Given the description of an element on the screen output the (x, y) to click on. 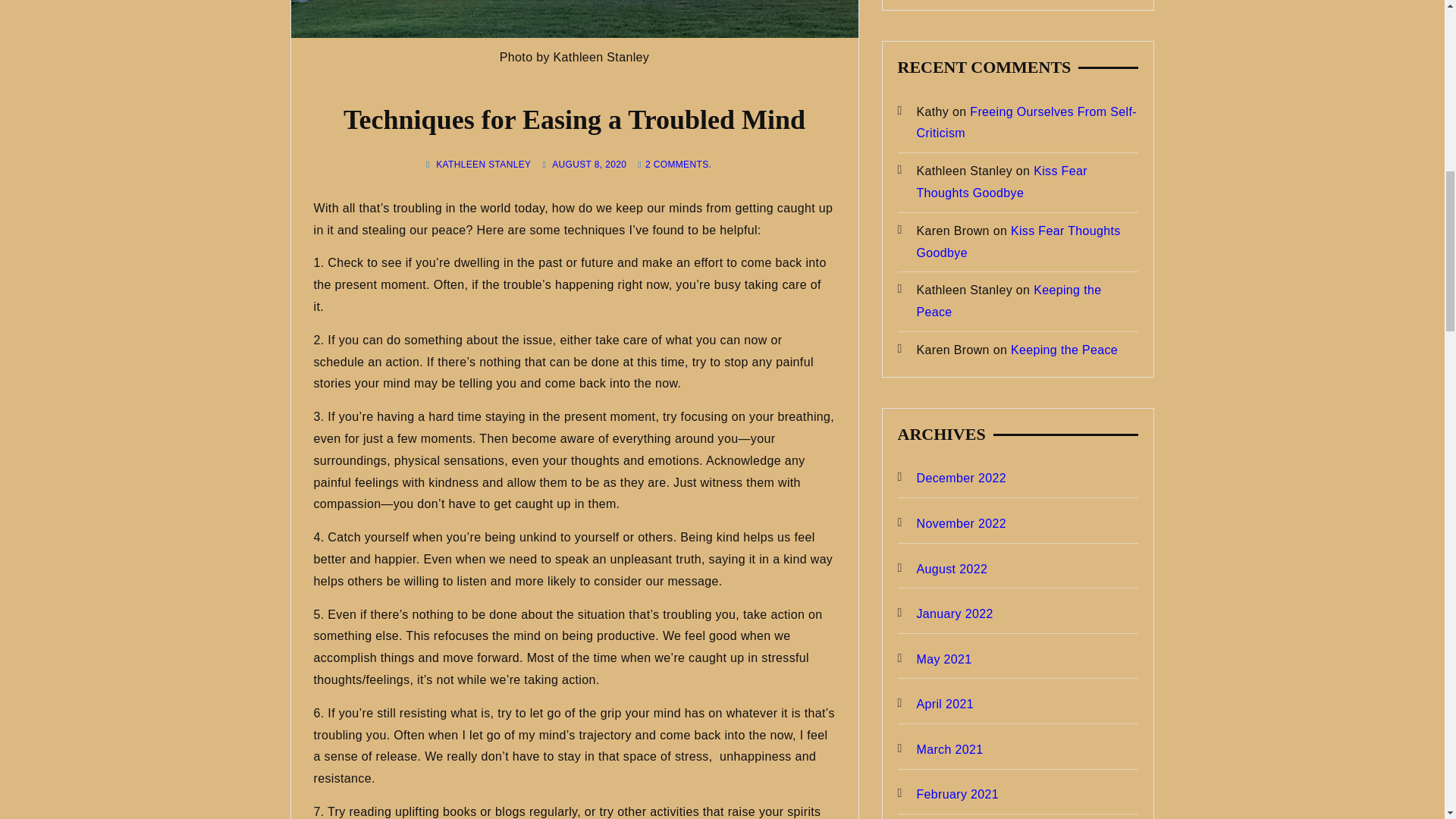
Keeping the Peace (1064, 349)
Freeing Ourselves From Self-Criticism (1025, 122)
January 2022 (945, 614)
August 2022 (943, 568)
Kiss Fear Thoughts Goodbye (1000, 181)
November 2022 (952, 524)
March 2021 (941, 750)
KATHLEEN STANLEY (483, 163)
2 COMMENTS. (678, 163)
May 2021 (935, 659)
Kiss Fear Thoughts Goodbye (1017, 241)
AUGUST 8, 2020 (588, 163)
December 2022 (952, 478)
April 2021 (936, 704)
Keeping the Peace (1007, 300)
